Given the description of an element on the screen output the (x, y) to click on. 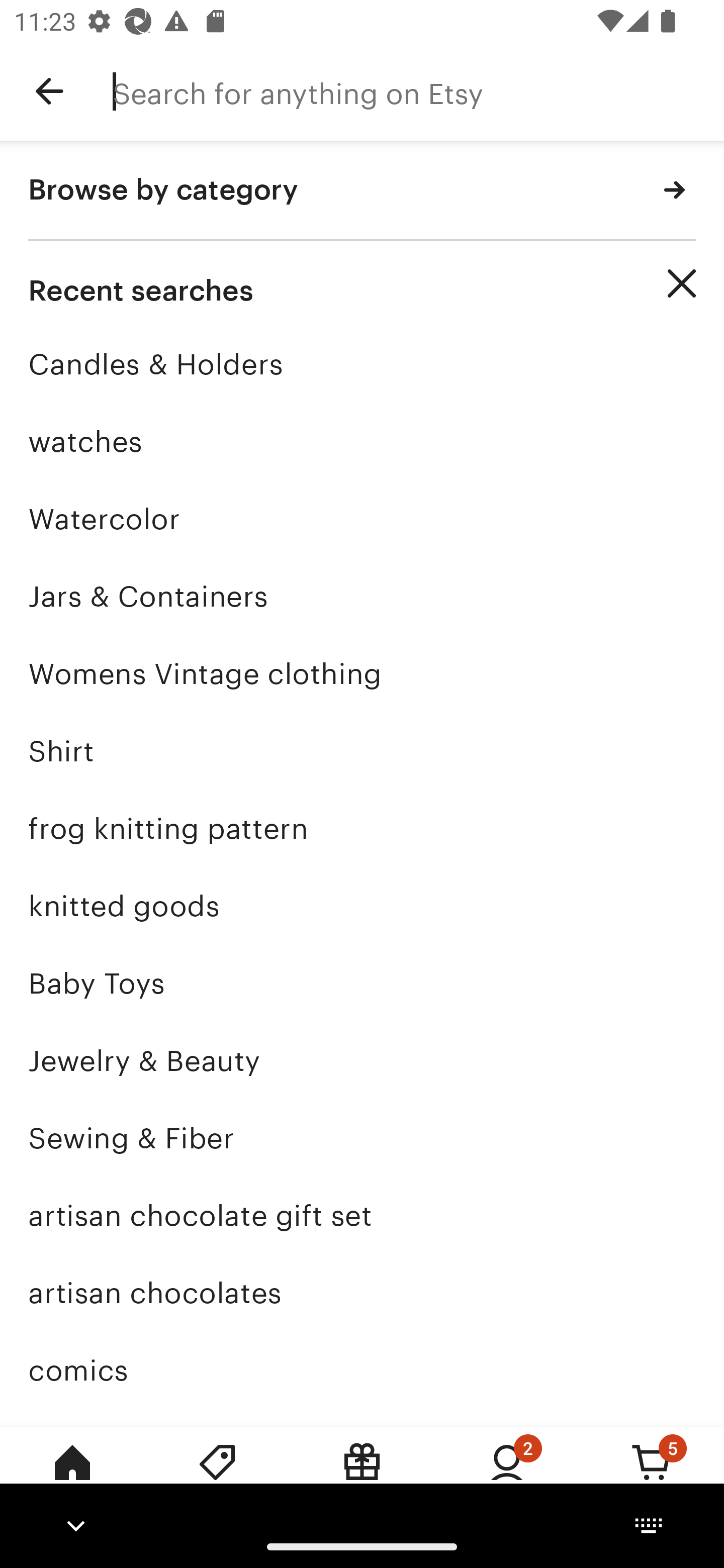
Navigate up (49, 91)
Search for anything on Etsy (418, 91)
Browse by category (362, 191)
Clear (681, 283)
Candles & Holders (362, 364)
watches (362, 440)
Watercolor (362, 518)
Jars & Containers (362, 596)
Womens Vintage clothing (362, 673)
Shirt (362, 750)
frog knitting pattern (362, 828)
knitted goods (362, 906)
Baby Toys (362, 983)
Jewelry & Beauty (362, 1060)
Sewing & Fiber (362, 1138)
artisan chocolate gift set (362, 1215)
artisan chocolates (362, 1292)
comics (362, 1370)
Deals (216, 1475)
Gift Mode (361, 1475)
You, 2 new notifications (506, 1475)
Cart, 5 new notifications (651, 1475)
